Given the description of an element on the screen output the (x, y) to click on. 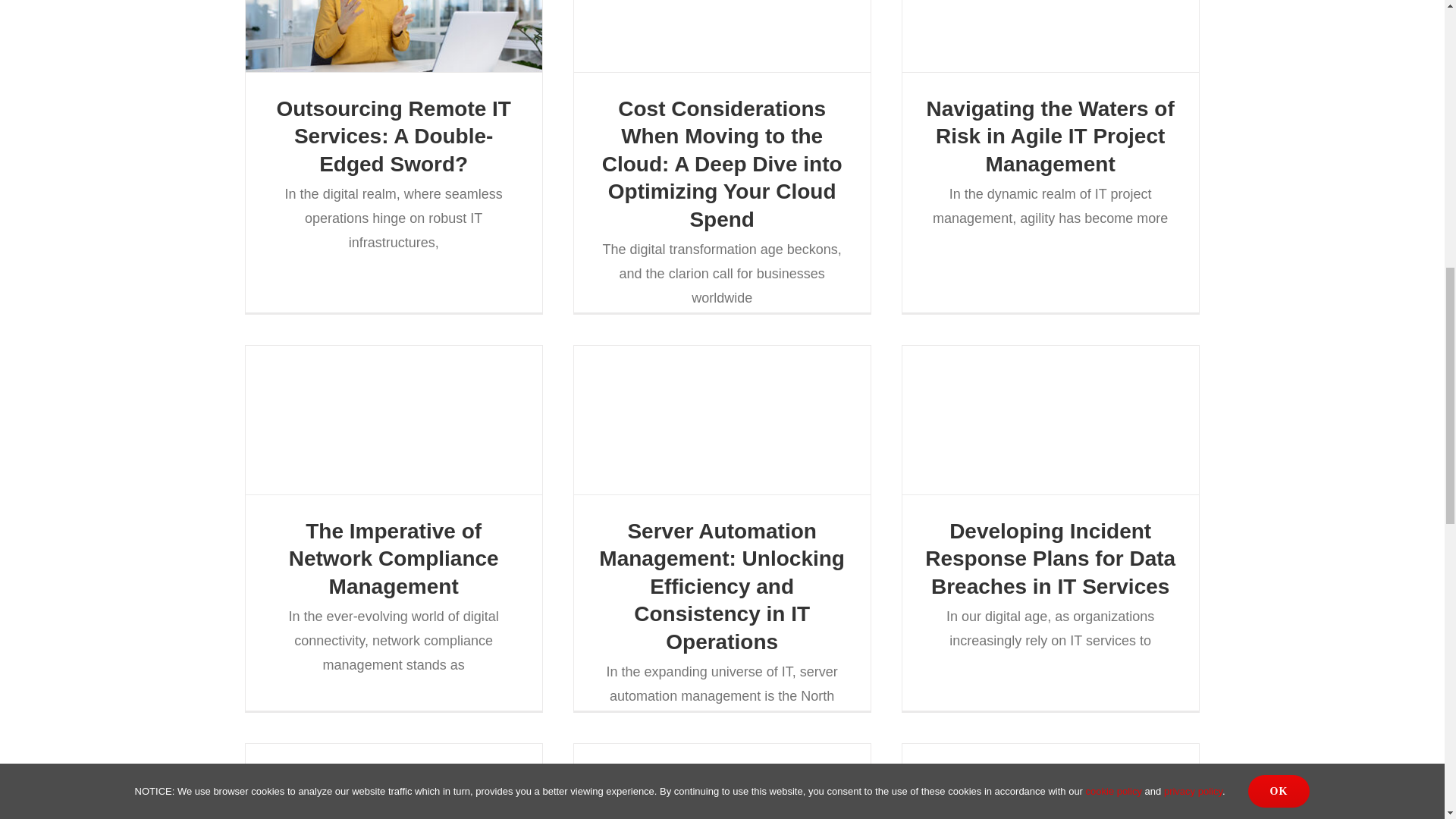
Outsourcing Remote IT Services: A Double-Edged Sword? (393, 136)
